Given the description of an element on the screen output the (x, y) to click on. 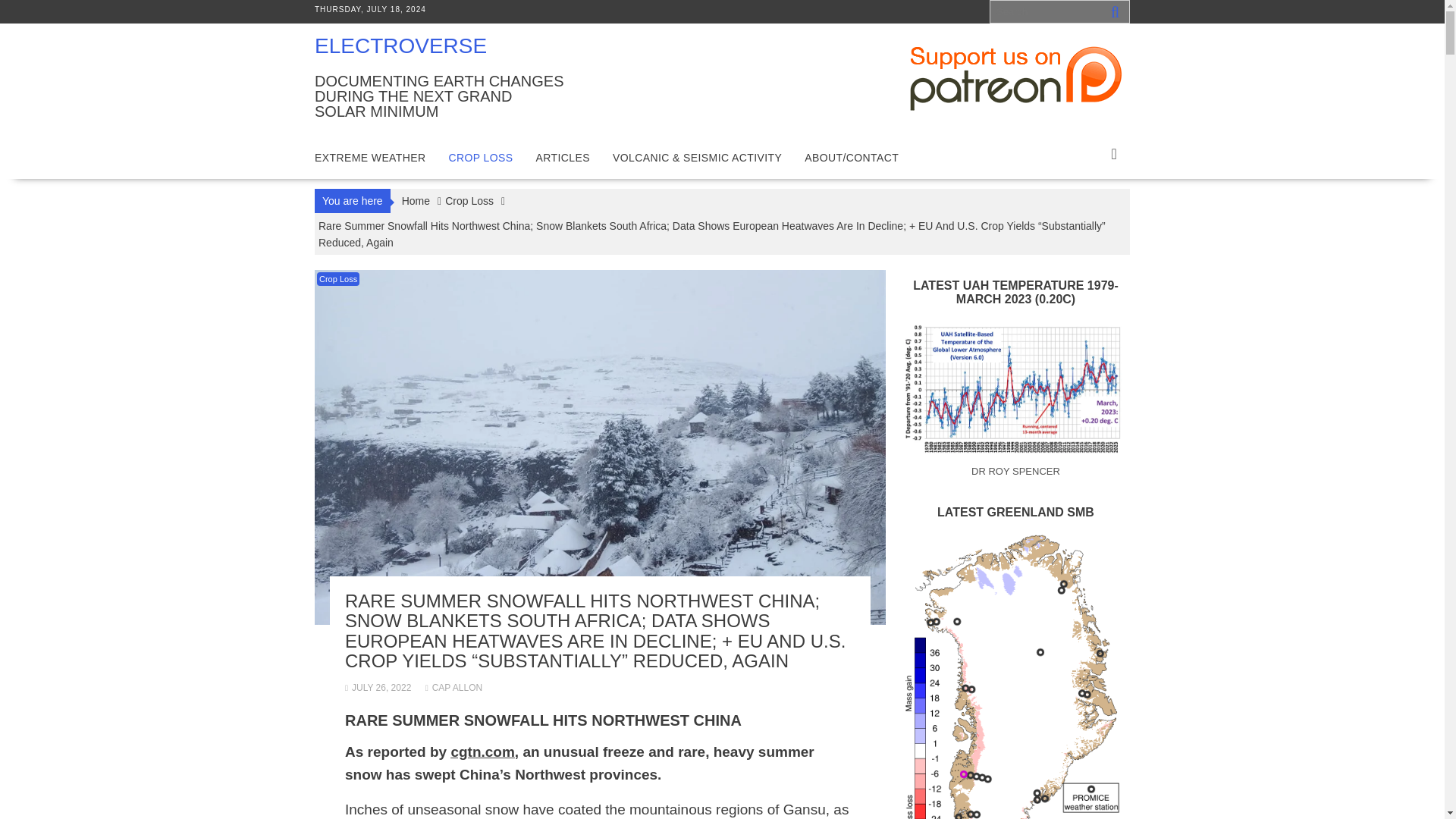
EXTREME WEATHER (370, 157)
CAP ALLON (454, 687)
JULY 26, 2022 (377, 687)
Crop Loss (338, 278)
ARTICLES (562, 157)
Crop Loss (469, 200)
CROP LOSS (481, 157)
cgtn.com (481, 751)
ELECTROVERSE (400, 45)
Home (415, 200)
